Given the description of an element on the screen output the (x, y) to click on. 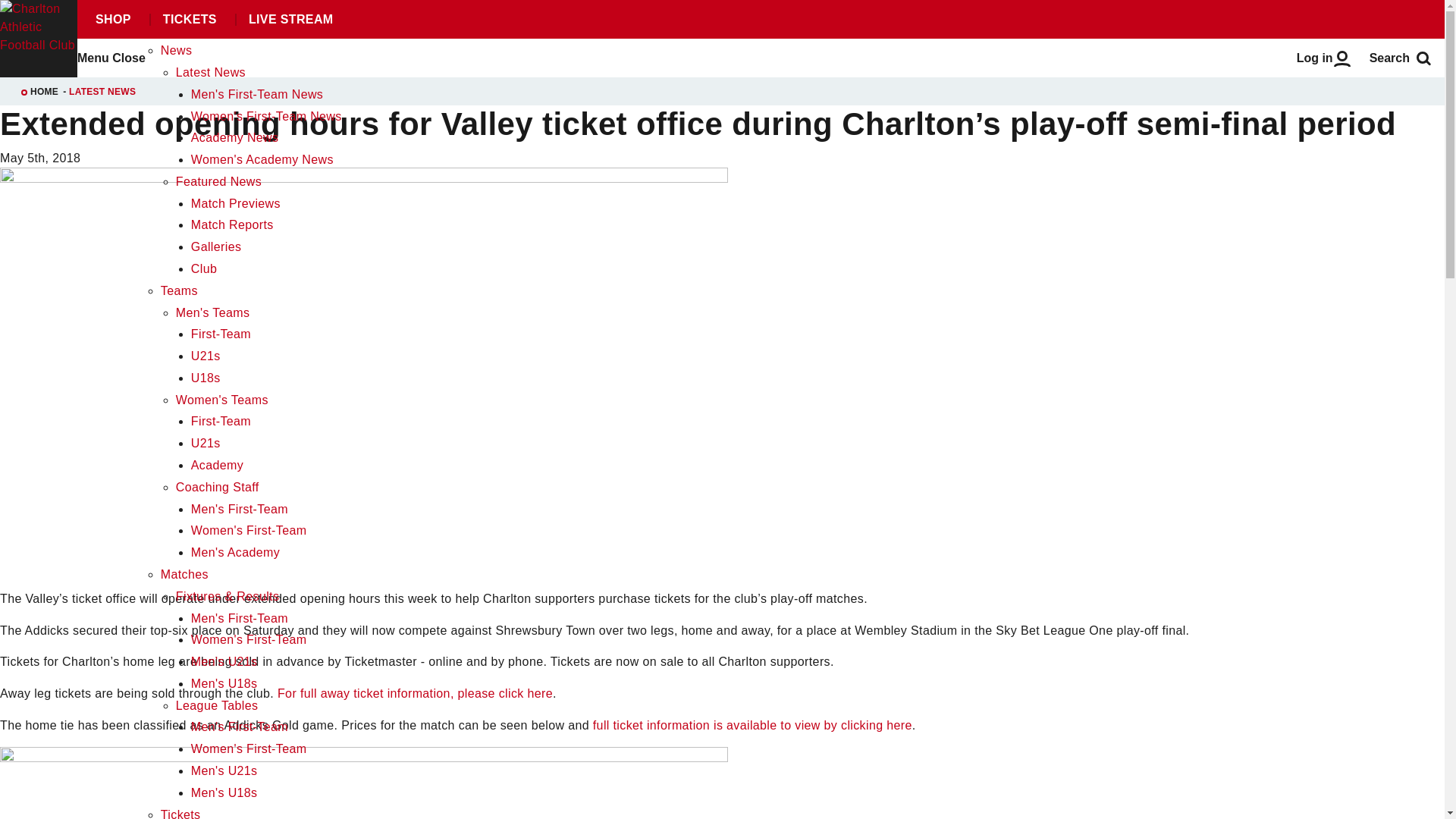
Featured News (219, 181)
Men's First-Team (239, 726)
Match Reports (231, 224)
Men's Academy (234, 552)
Galleries (215, 246)
TICKETS (188, 19)
Women's First-Team (248, 530)
Club (203, 268)
Women's First-Team (248, 639)
News (176, 50)
Latest News (211, 72)
Men's U21s (223, 661)
U21s (205, 442)
Match Previews (235, 203)
Match Previews (235, 203)
